Given the description of an element on the screen output the (x, y) to click on. 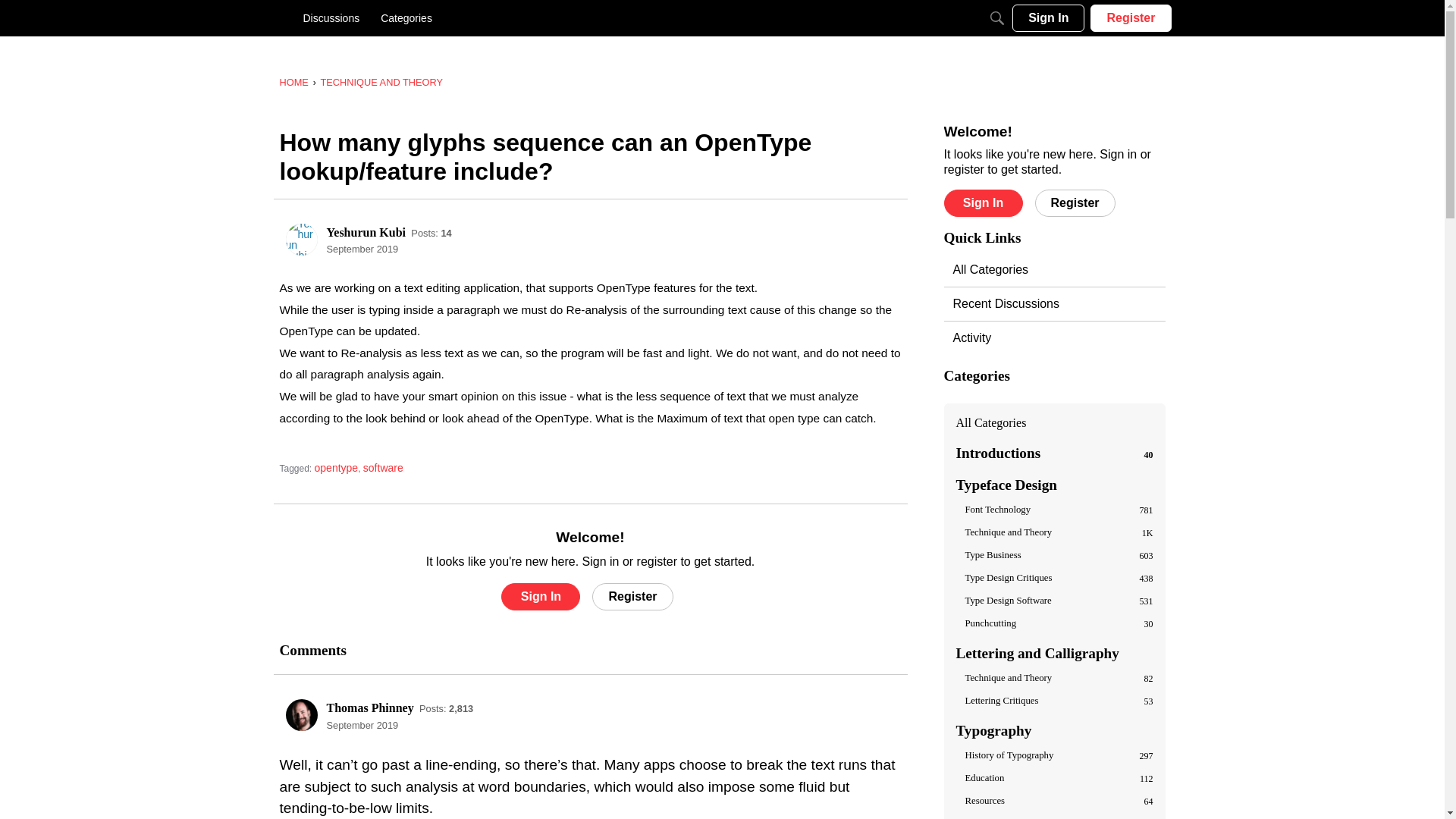
opentype (336, 467)
Register (632, 596)
September 2019 (361, 725)
Search (997, 17)
Yeshurun Kubi (301, 239)
Sign In (539, 596)
Sign In (539, 596)
Register (632, 596)
HOME (293, 81)
Discussions (331, 17)
